Given the description of an element on the screen output the (x, y) to click on. 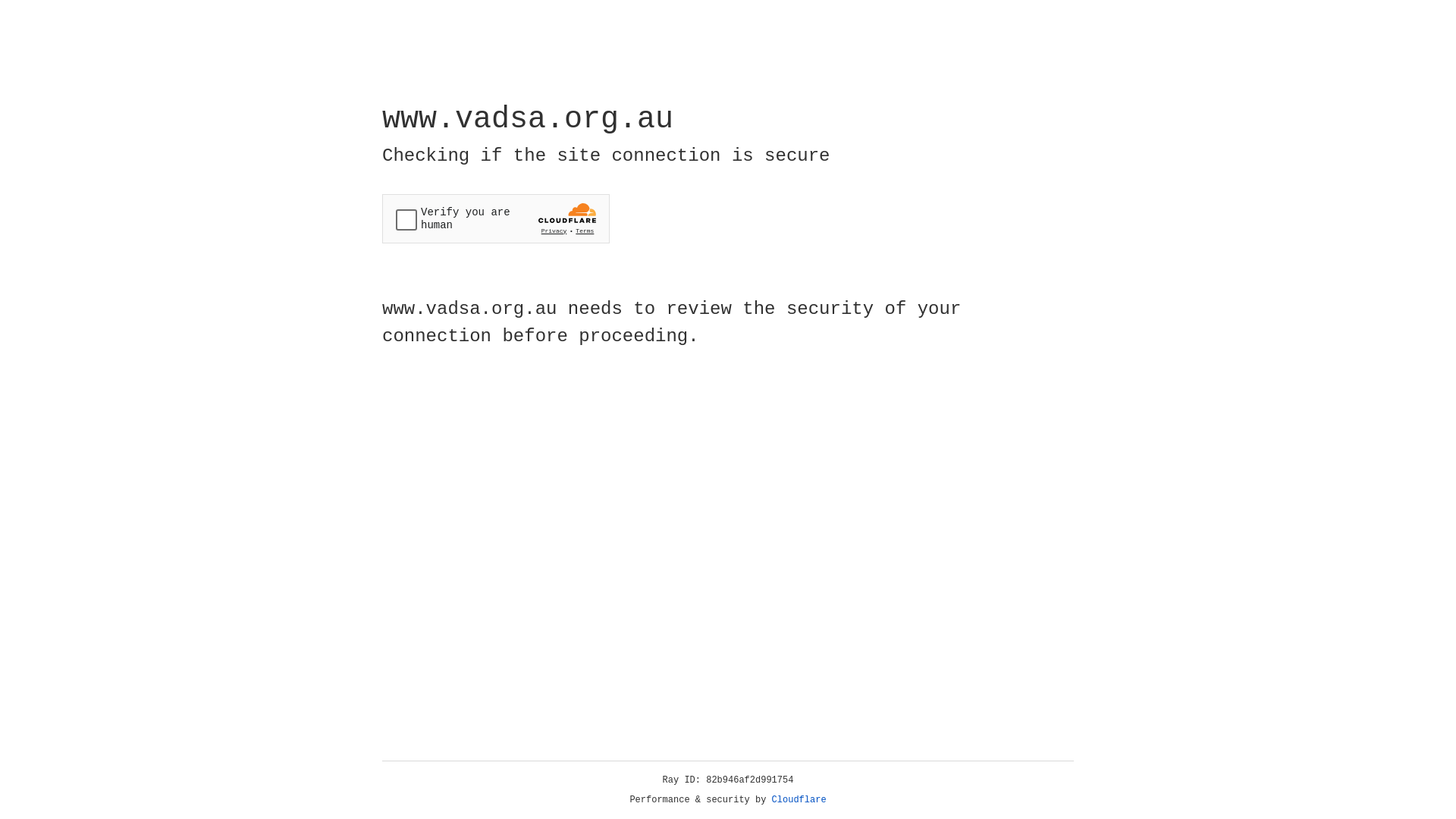
Cloudflare Element type: text (798, 799)
Widget containing a Cloudflare security challenge Element type: hover (495, 218)
